Given the description of an element on the screen output the (x, y) to click on. 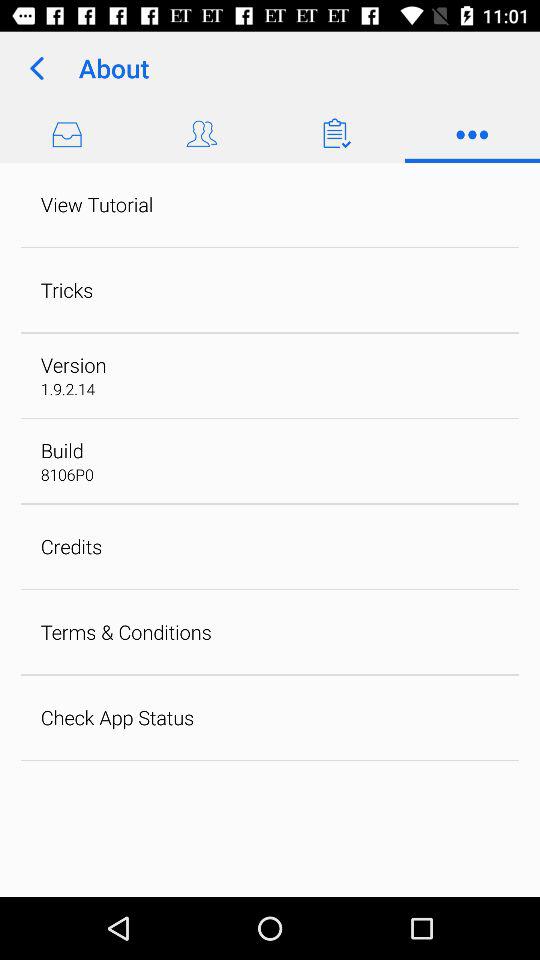
click check app status icon (117, 717)
